Given the description of an element on the screen output the (x, y) to click on. 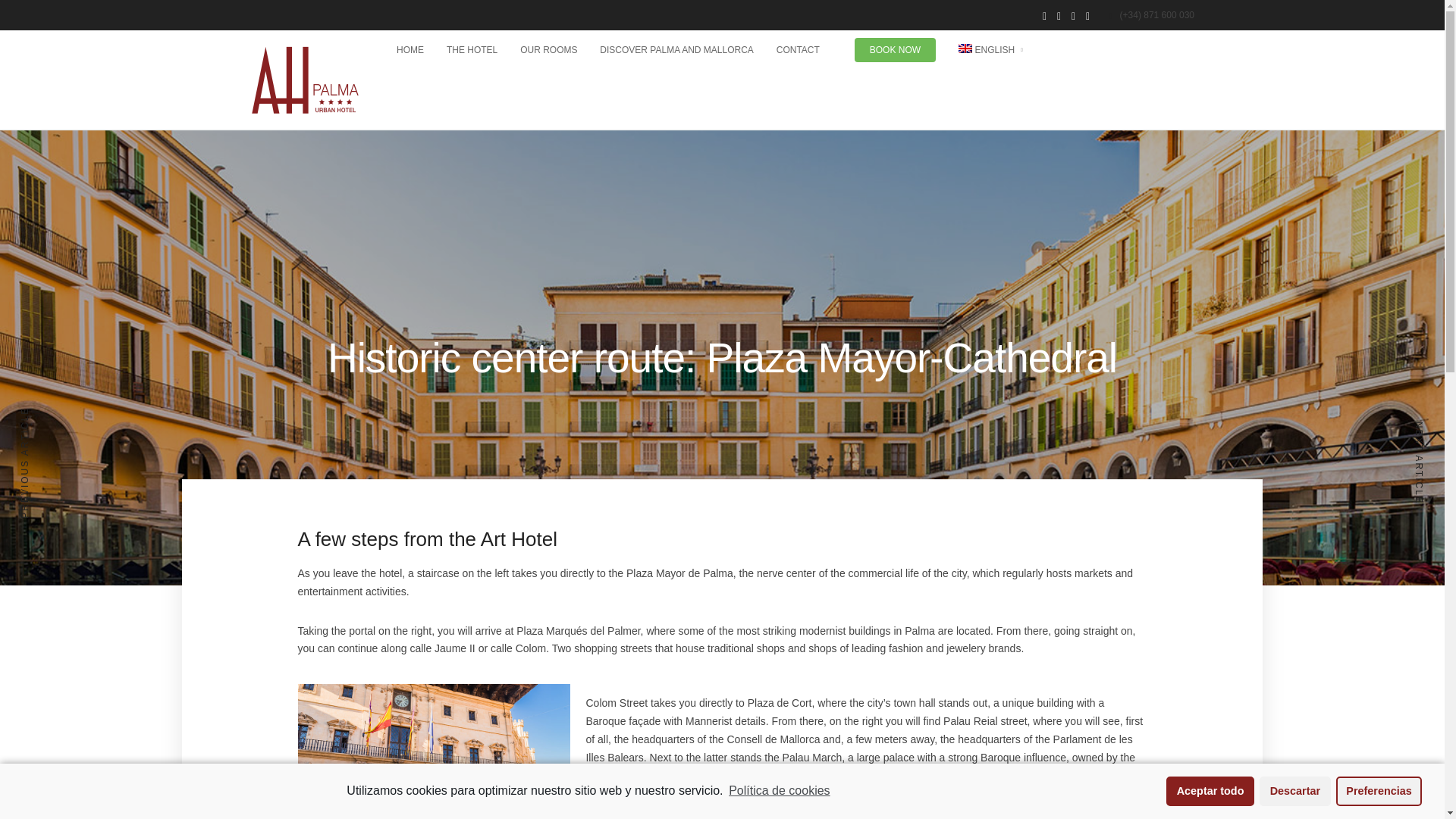
HOME (409, 49)
PREVIOUS ARTICLE (40, 462)
DISCOVER PALMA AND MALLORCA (676, 49)
THE HOTEL (471, 49)
BOOK NOW (895, 49)
ENGLISH (990, 50)
CONTACT (797, 49)
OUR ROOMS (547, 49)
